Given the description of an element on the screen output the (x, y) to click on. 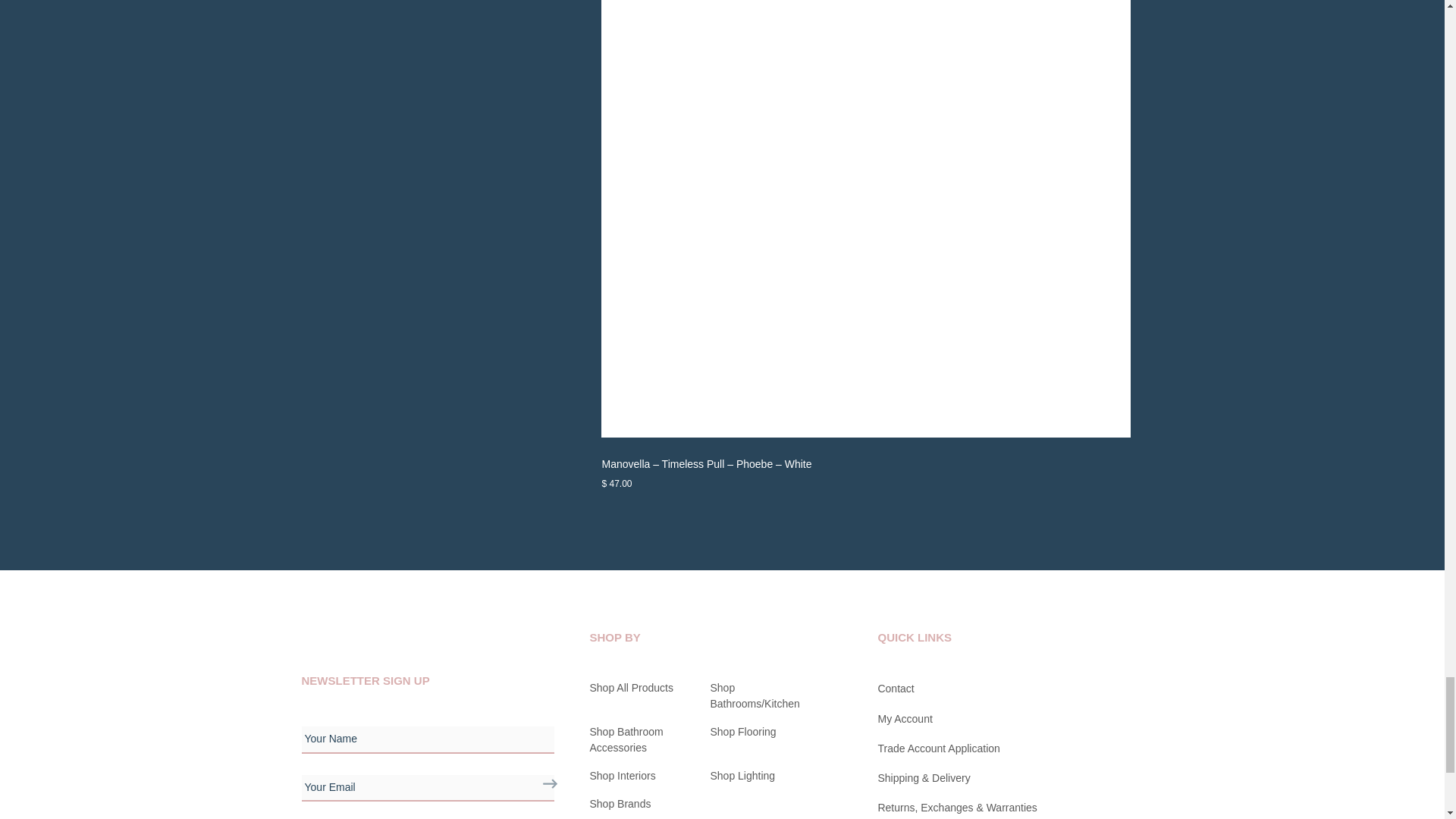
Flooring Bathrooms Interiors (339, 627)
